Given the description of an element on the screen output the (x, y) to click on. 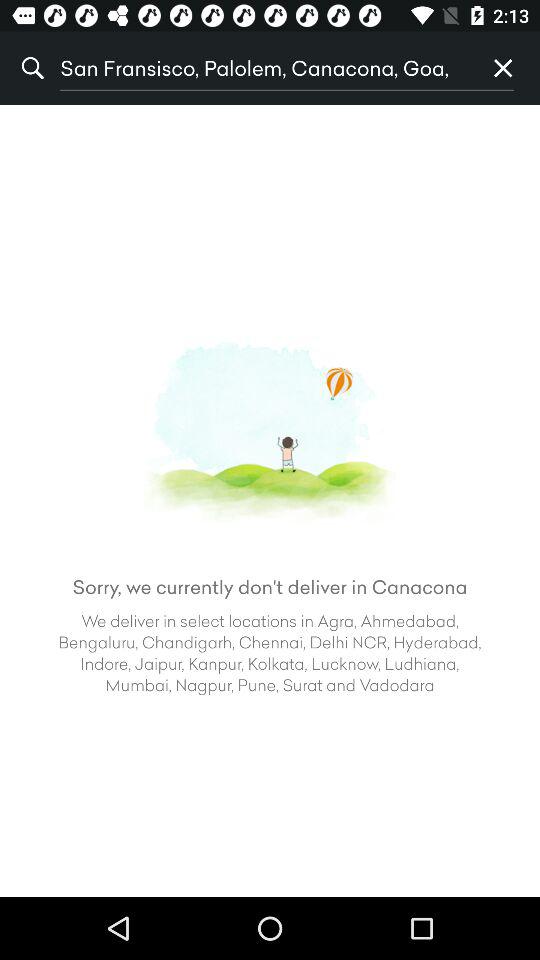
scroll until the san fransisco palolem item (263, 68)
